Given the description of an element on the screen output the (x, y) to click on. 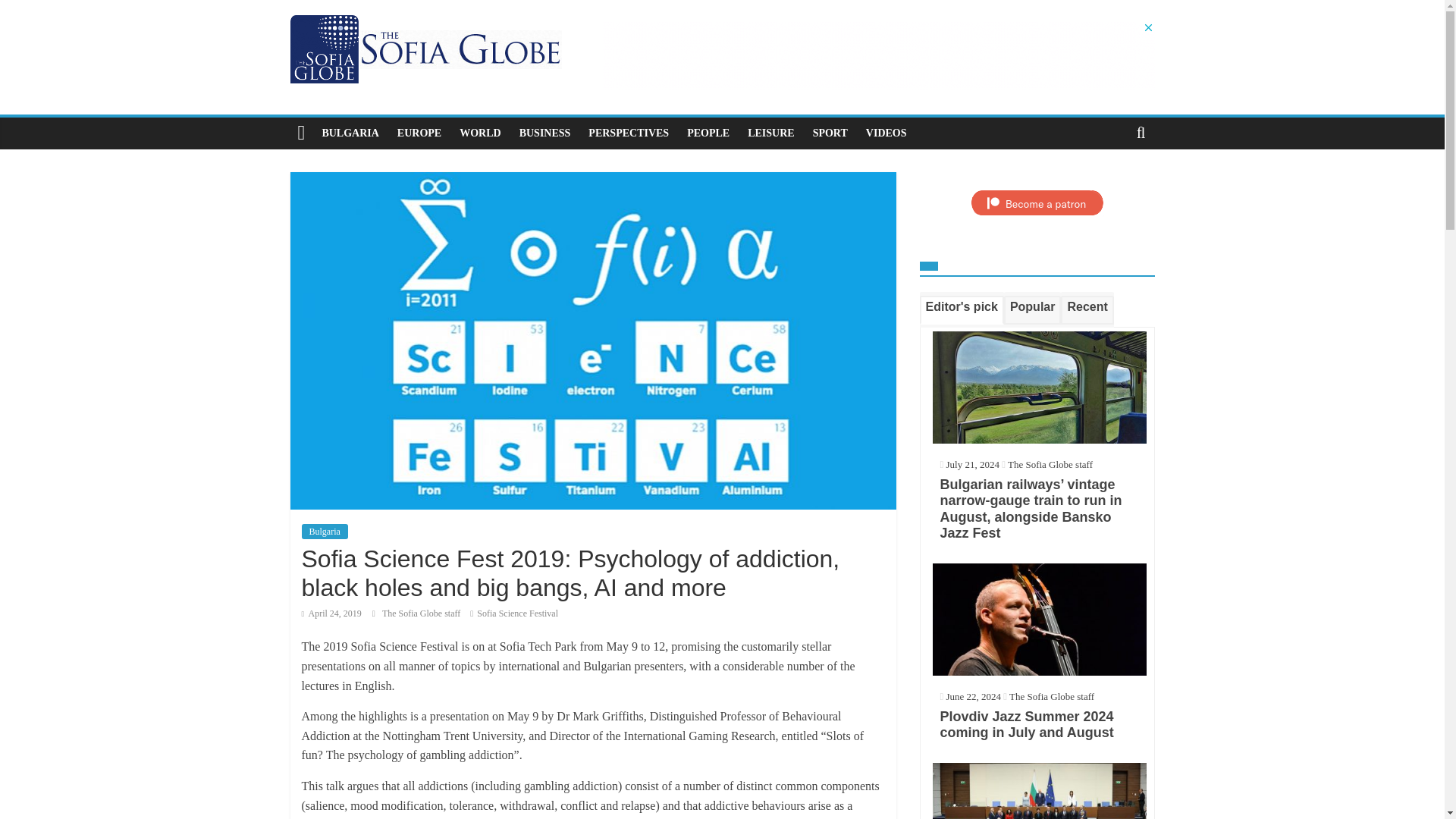
2:35 PM (331, 613)
The Sofia Globe staff (422, 613)
Sofia Science Festival (517, 613)
LEISURE (770, 133)
BULGARIA (350, 133)
Bulgaria (324, 531)
SPORT (830, 133)
April 24, 2019 (331, 613)
3rd party ad content (878, 55)
WORLD (479, 133)
